Given the description of an element on the screen output the (x, y) to click on. 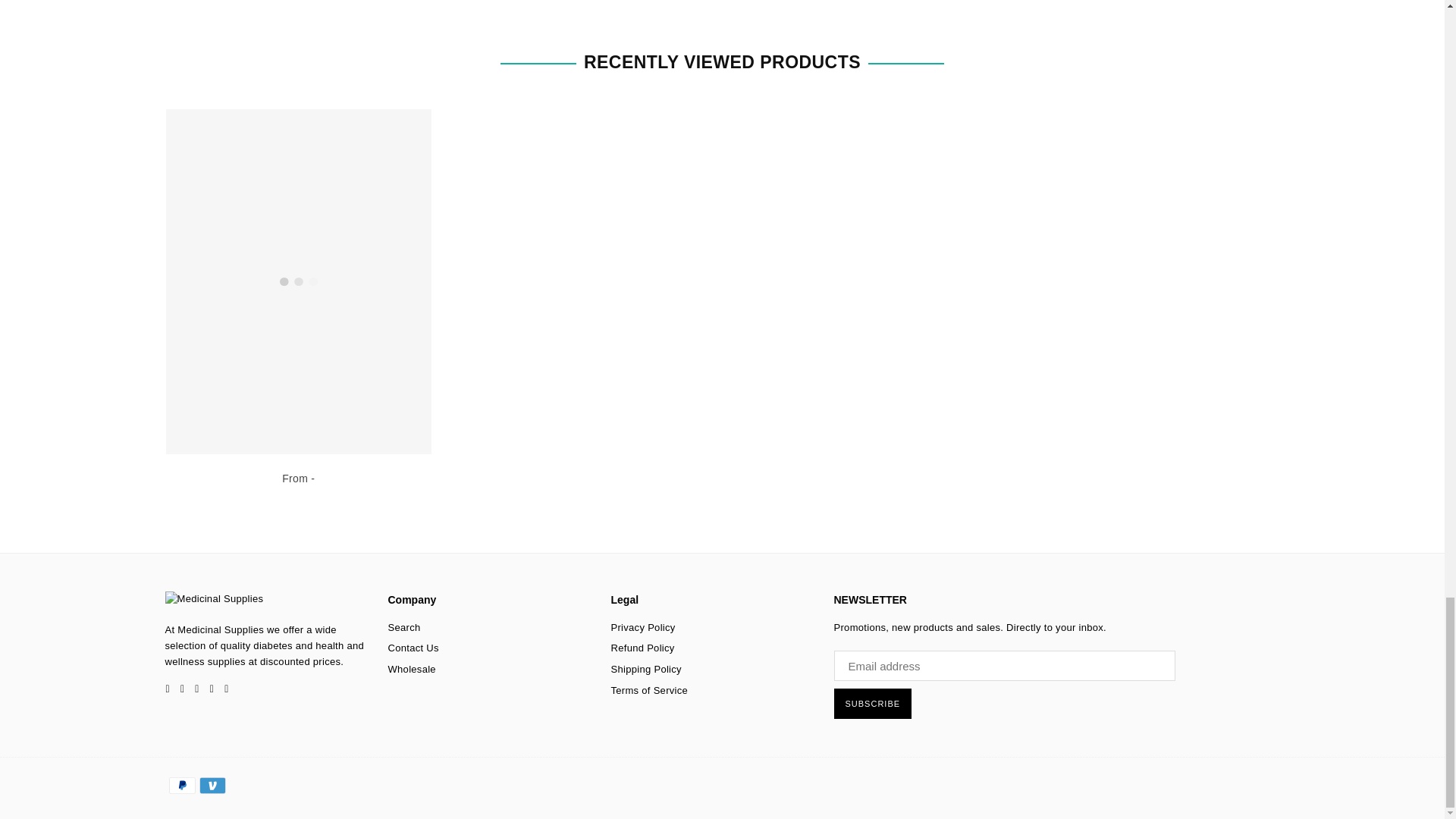
Venmo (211, 785)
PayPal (181, 785)
